Given the description of an element on the screen output the (x, y) to click on. 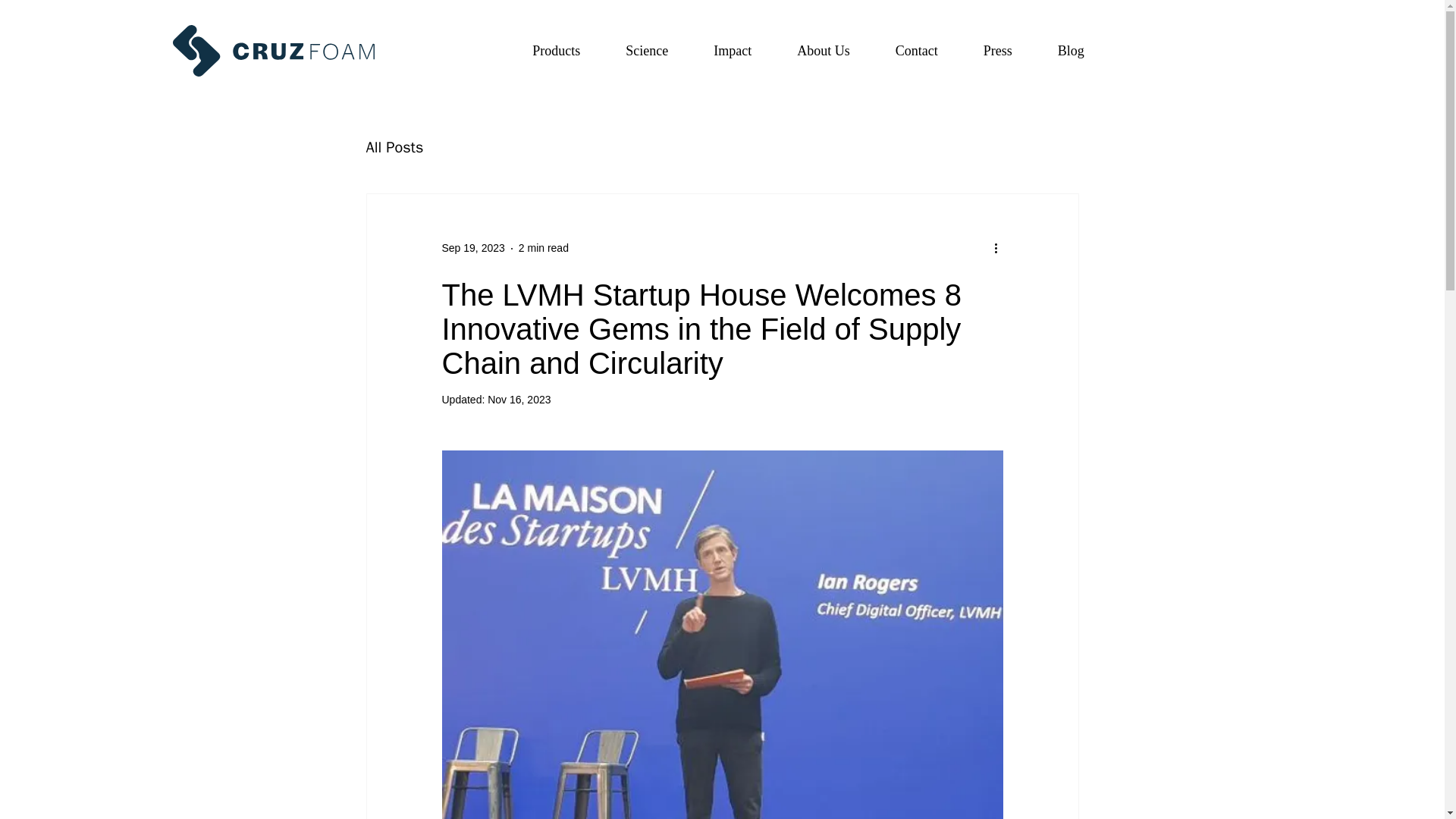
2 min read (543, 247)
Contact (901, 51)
All Posts (916, 51)
Sep 19, 2023 (394, 147)
Impact (472, 247)
Nov 16, 2023 (732, 51)
Press (518, 399)
Products (997, 51)
Science (555, 51)
